Given the description of an element on the screen output the (x, y) to click on. 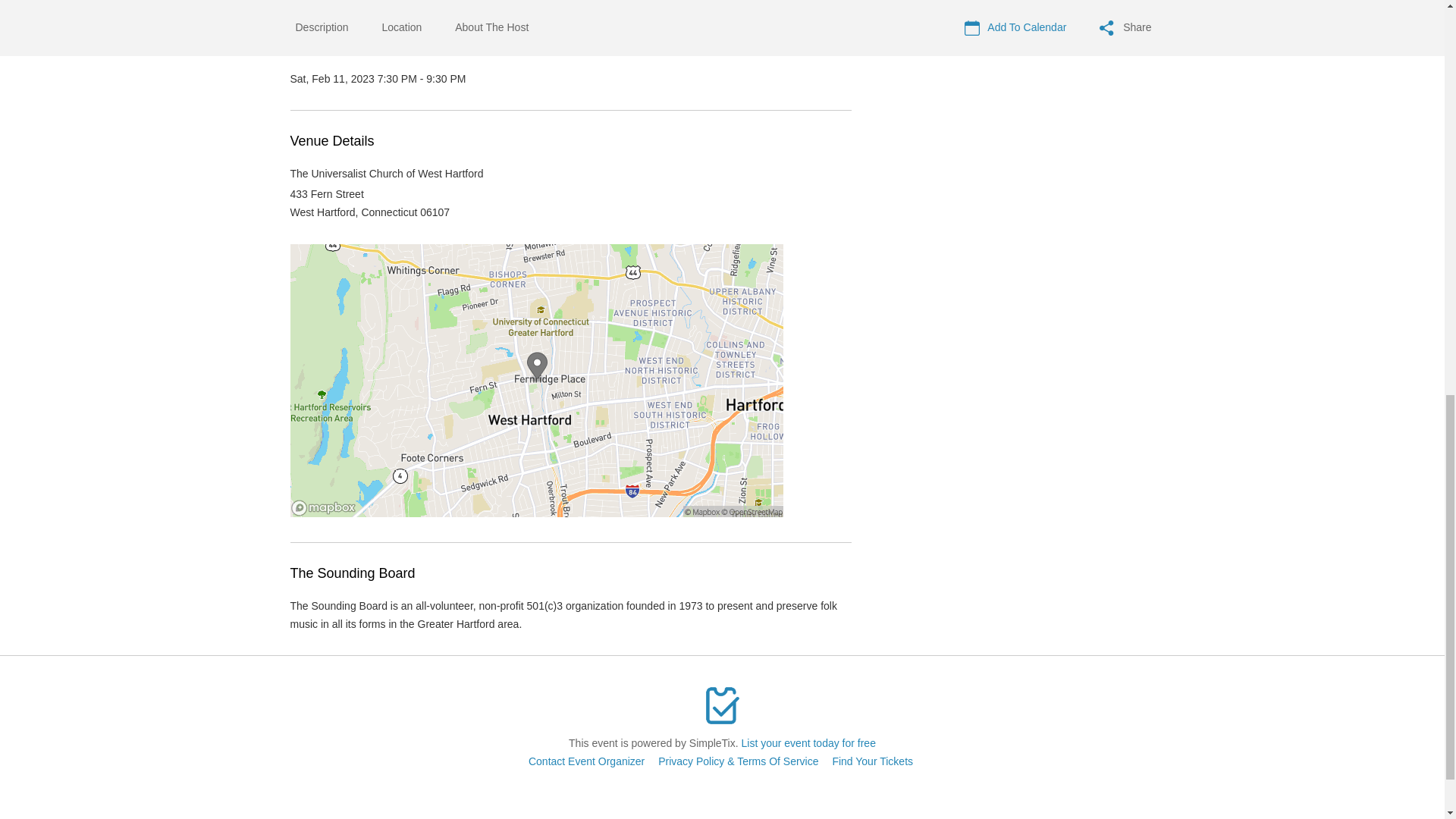
List your event today for free (808, 743)
Find Your Tickets (871, 761)
Contact Event Organizer (586, 761)
Powered by SimpleTix (721, 704)
Find Your Tickets (871, 761)
Contact Event Organizer (586, 761)
List your event today for free (808, 743)
